Given the description of an element on the screen output the (x, y) to click on. 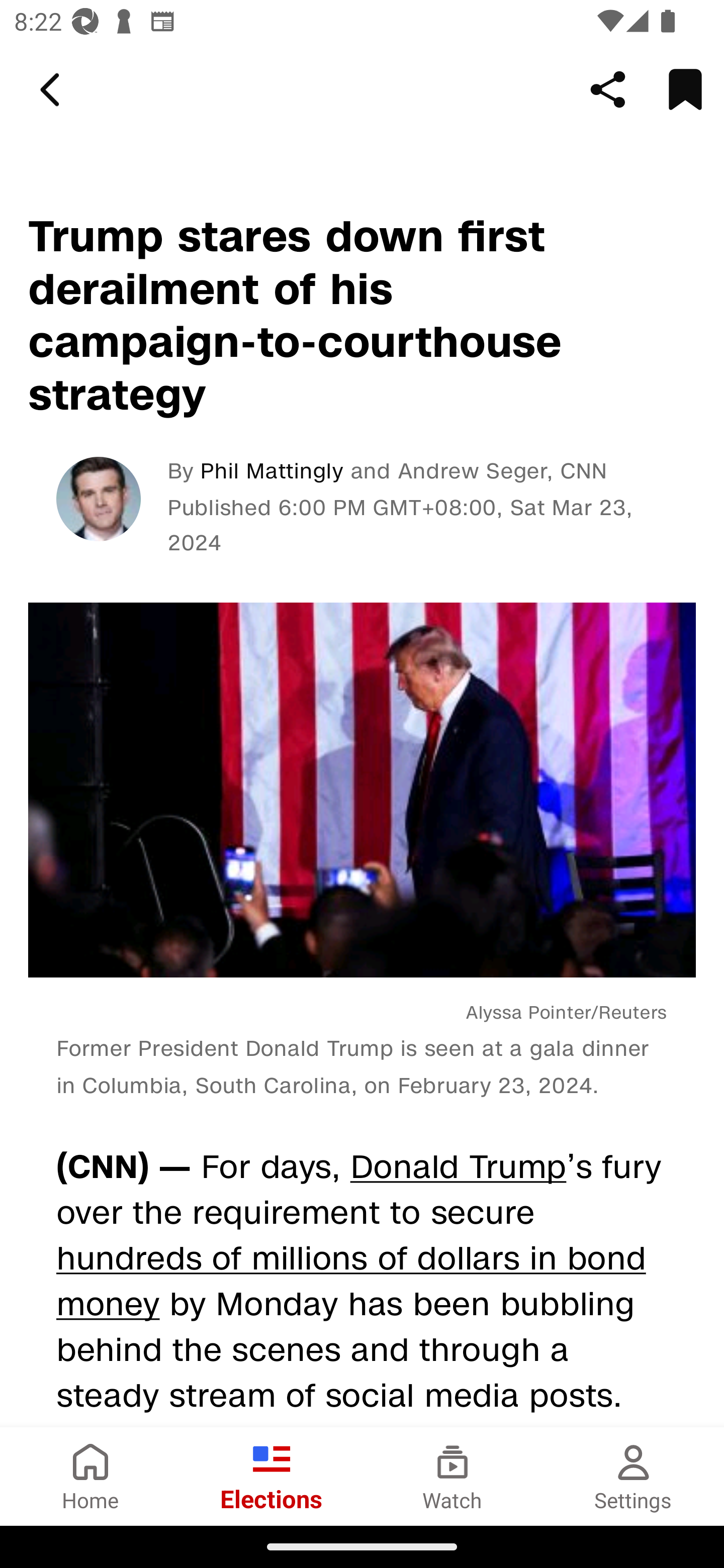
Back Button (52, 89)
Share (607, 89)
Bookmark (685, 89)
Home (90, 1475)
Watch (452, 1475)
Settings (633, 1475)
